Given the description of an element on the screen output the (x, y) to click on. 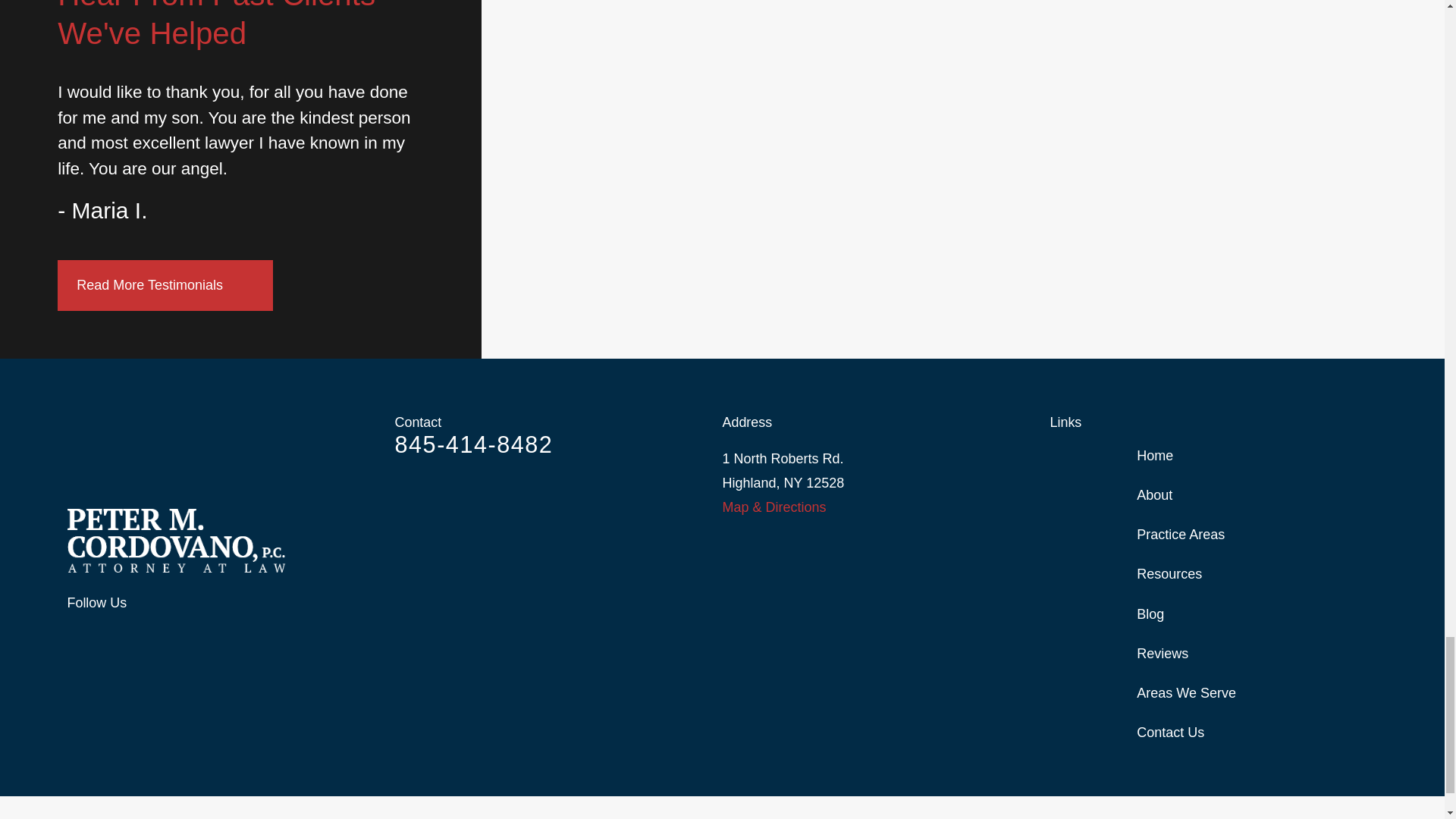
Peter M. Cordovano P.C. (175, 540)
Twitter (75, 636)
Home (230, 540)
Martindale (156, 636)
LinkedIn (115, 636)
